Given the description of an element on the screen output the (x, y) to click on. 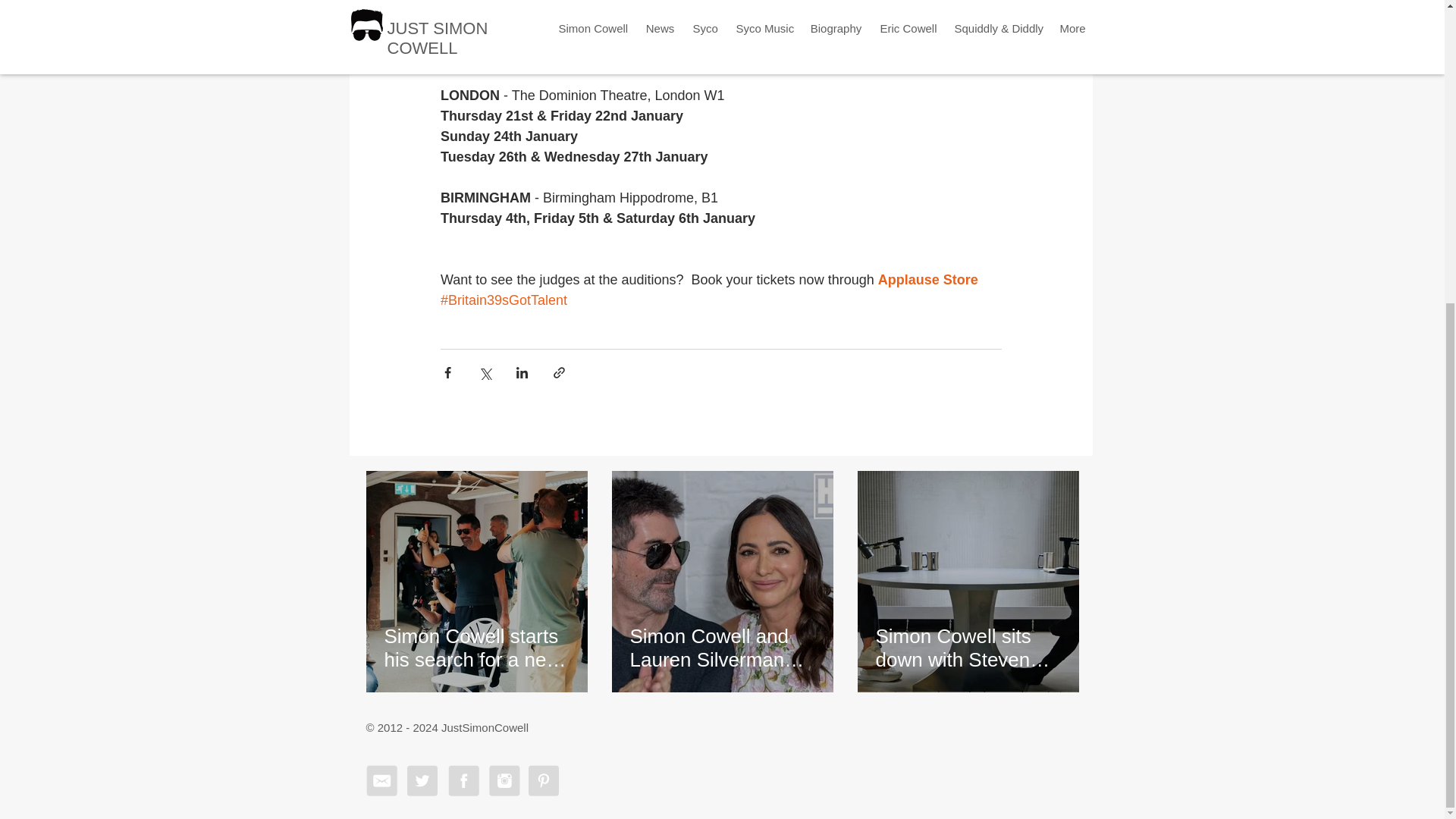
Simon Cowell and Lauren Silverman talk family life (720, 647)
Applause Store (926, 279)
